Given the description of an element on the screen output the (x, y) to click on. 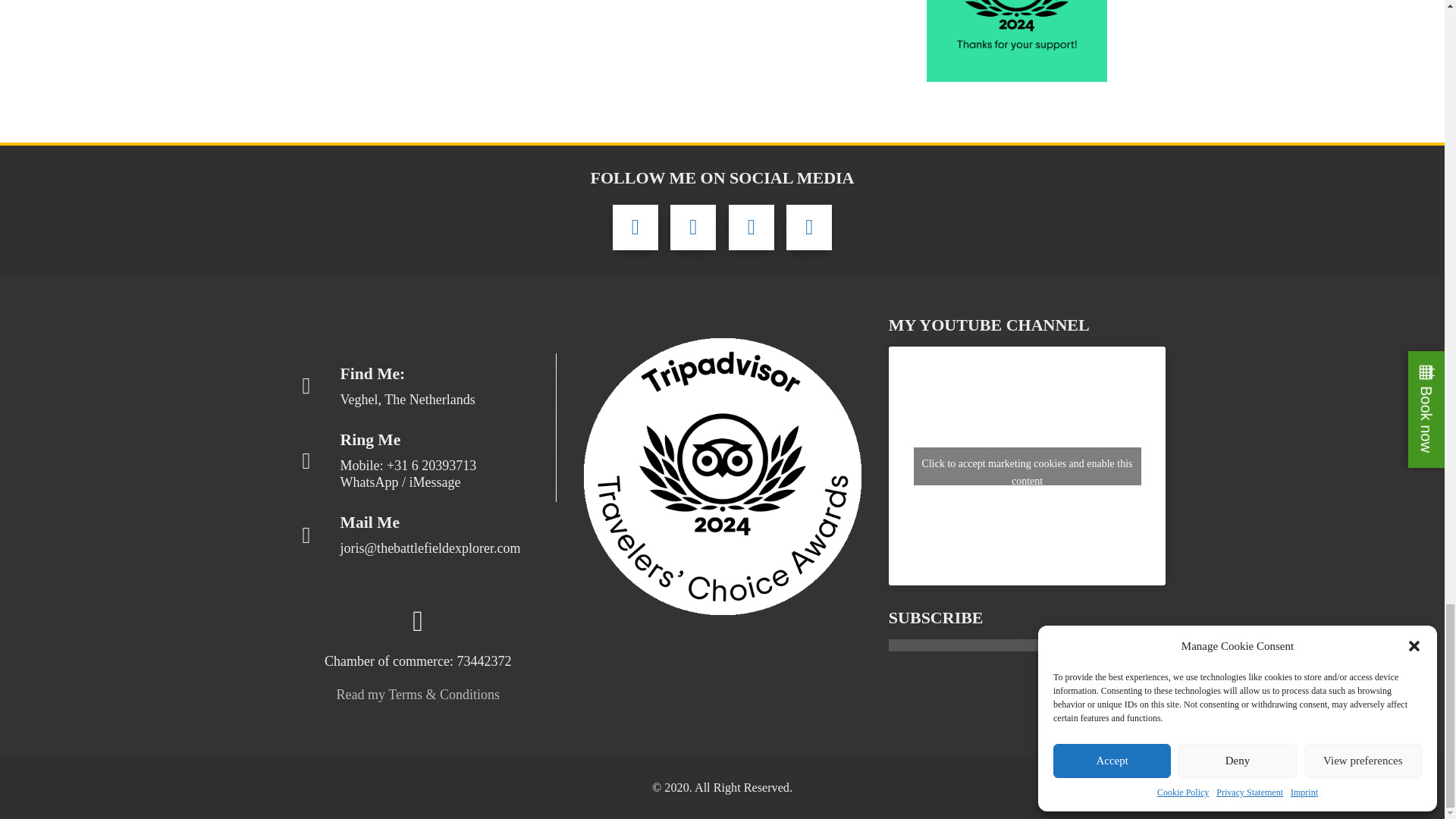
Instagram (751, 227)
YouTube (808, 227)
Facebook (635, 227)
Twitter (692, 227)
